Given the description of an element on the screen output the (x, y) to click on. 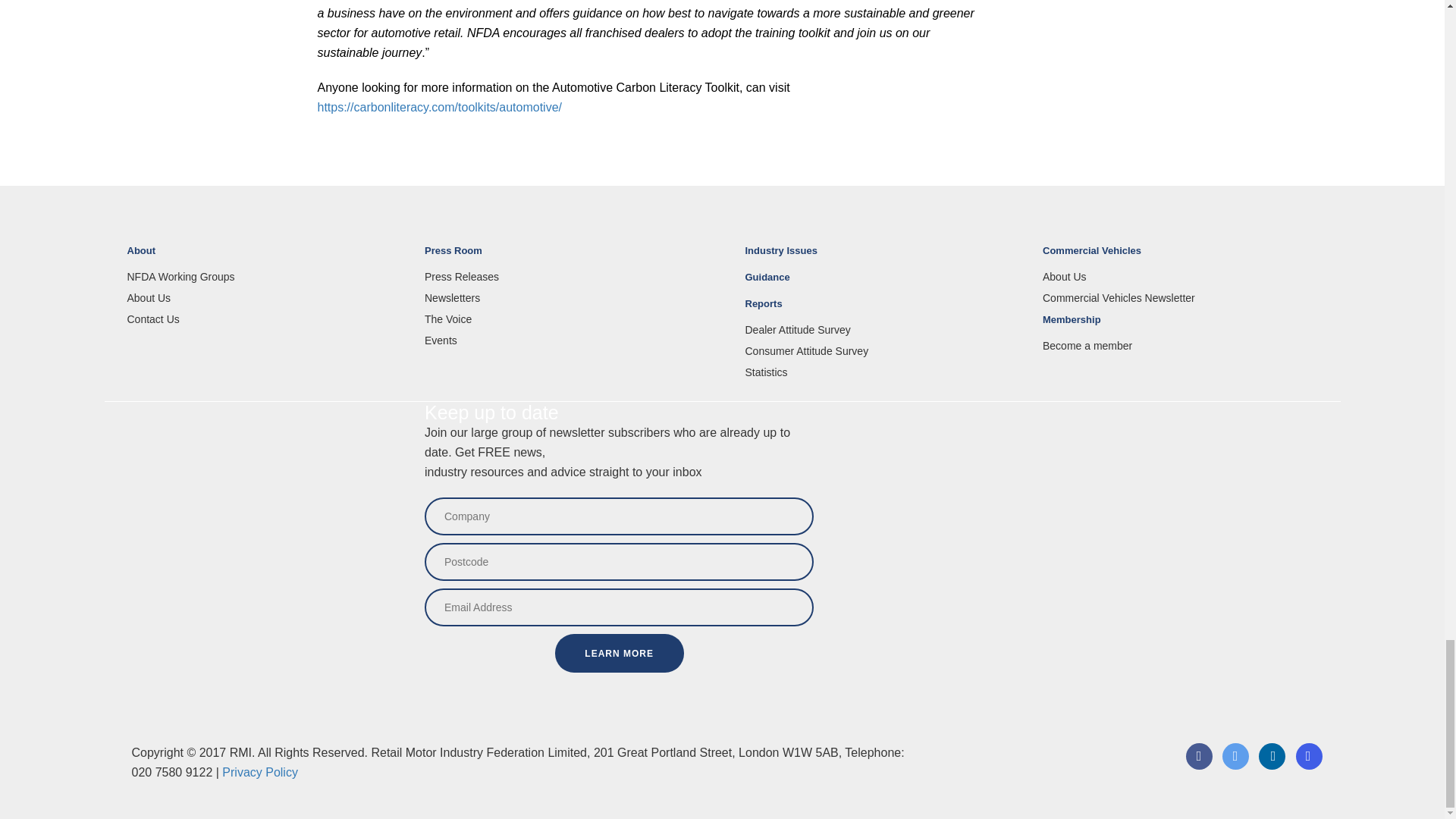
NFDA Working Groups (265, 276)
Instagram (1308, 765)
About Us (265, 297)
Press Releases (562, 276)
Facebook (1198, 765)
Newsletters (562, 297)
Reports (882, 310)
Twitter (1234, 765)
LinkedIn (1271, 765)
Events (562, 340)
